Given the description of an element on the screen output the (x, y) to click on. 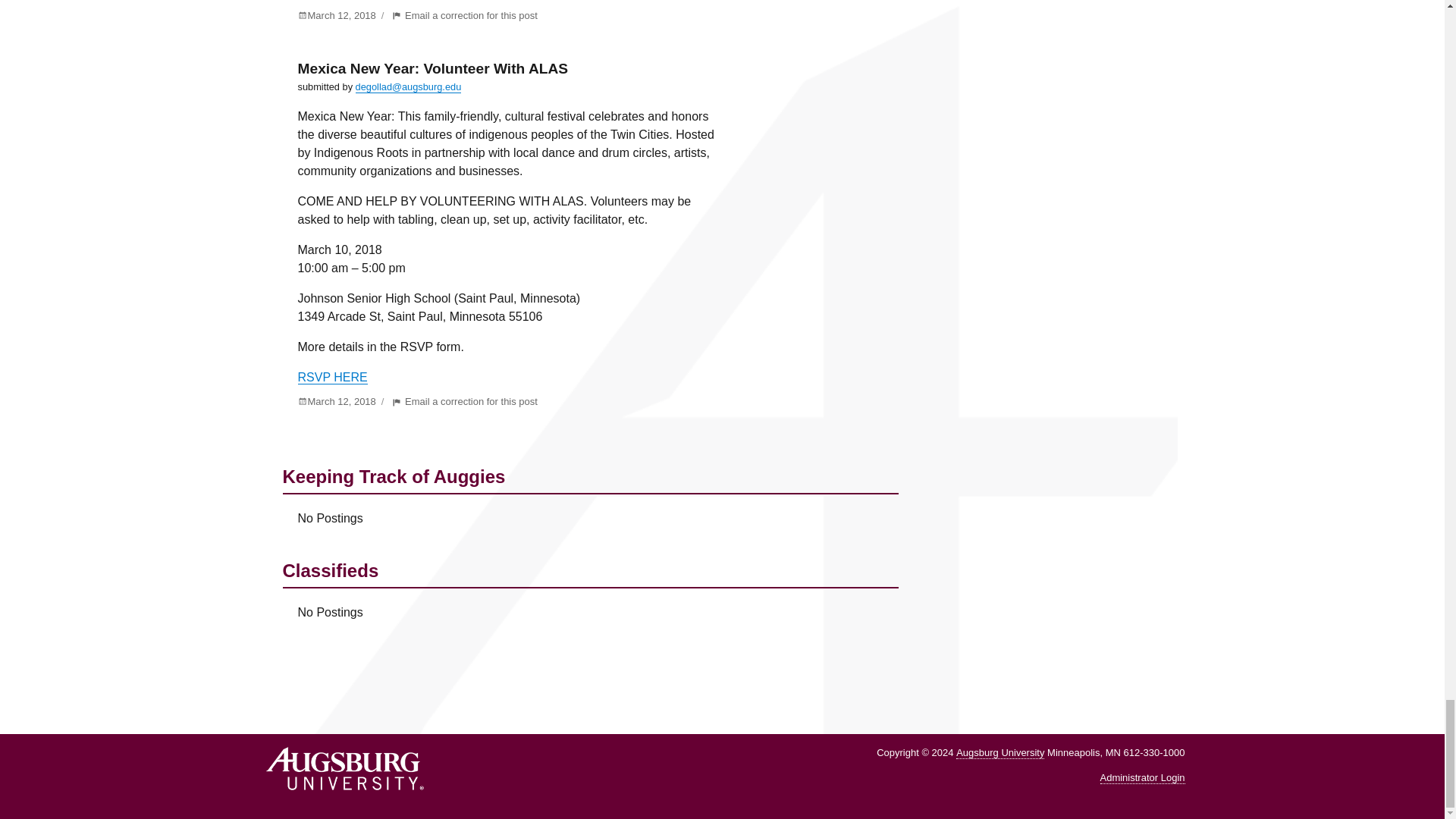
Classifieds (590, 602)
Keeping Track of Auggies (590, 508)
